Given the description of an element on the screen output the (x, y) to click on. 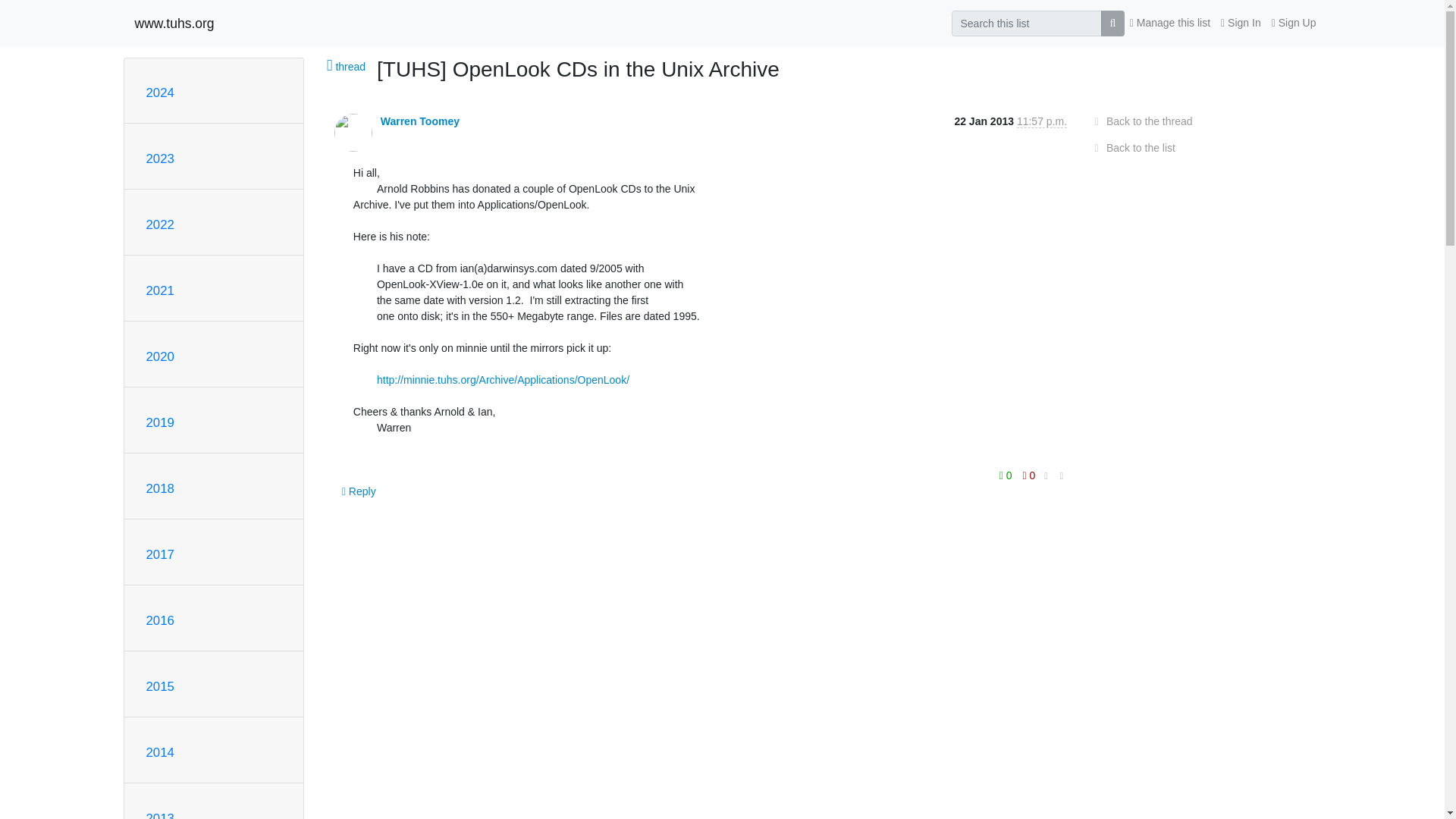
Manage this list (1169, 22)
Sign In (1240, 22)
2022 (159, 224)
www.tuhs.org (174, 22)
Sign in to reply online (359, 491)
Sender's time: Jan. 23, 2013, 10:57 a.m. (1041, 121)
2024 (159, 92)
See the profile for Warren Toomey (420, 121)
You must be logged-in to vote. (1007, 475)
2023 (159, 158)
